Given the description of an element on the screen output the (x, y) to click on. 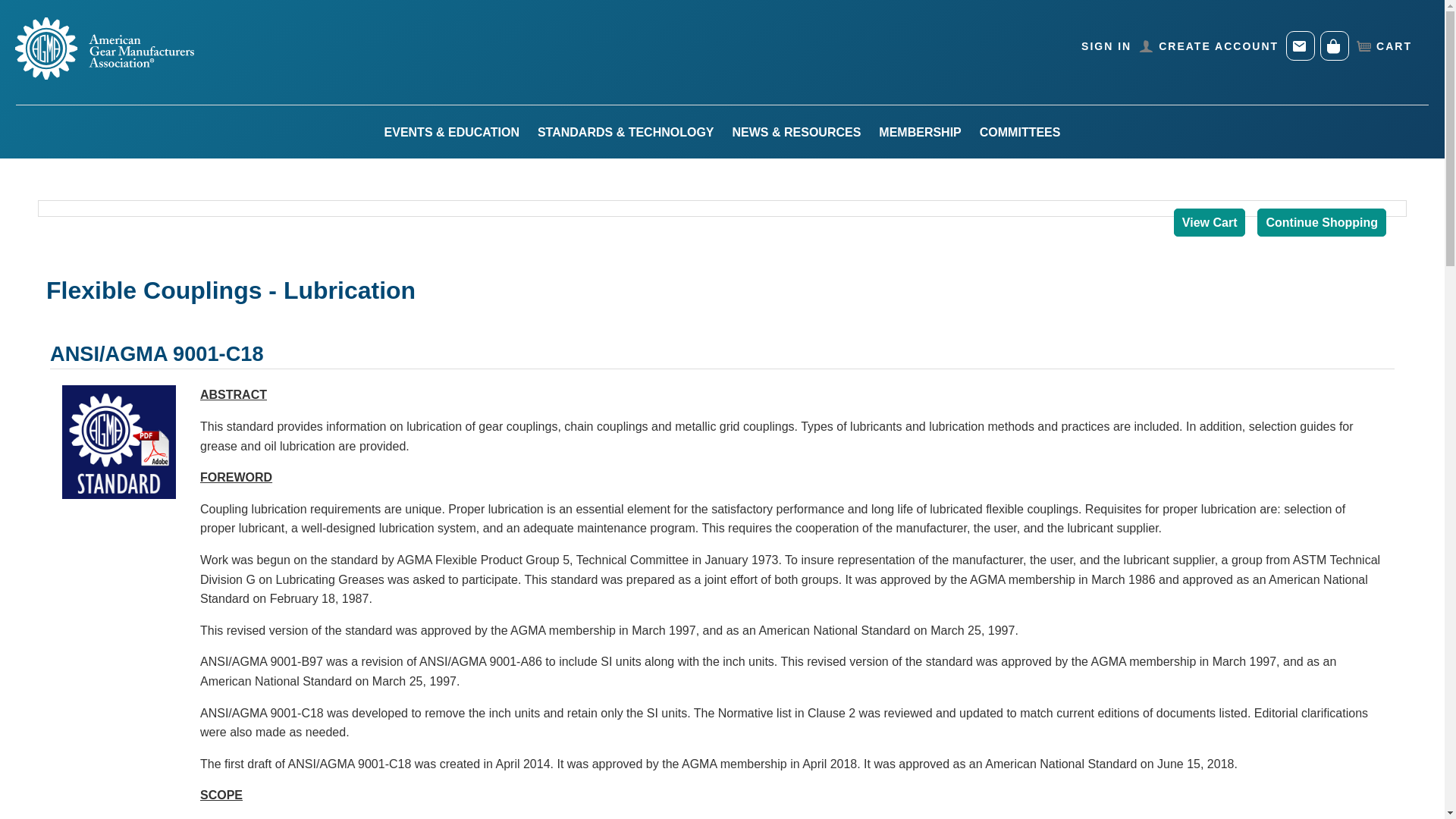
CREATE ACCOUNT (1209, 45)
View Cart (1209, 222)
CART (1383, 45)
WCAG Compliant (50, 11)
COMMITTEES (1020, 132)
MEMBERSHIP (919, 132)
Continue Shopping (1321, 222)
SIGN IN (1106, 46)
